Given the description of an element on the screen output the (x, y) to click on. 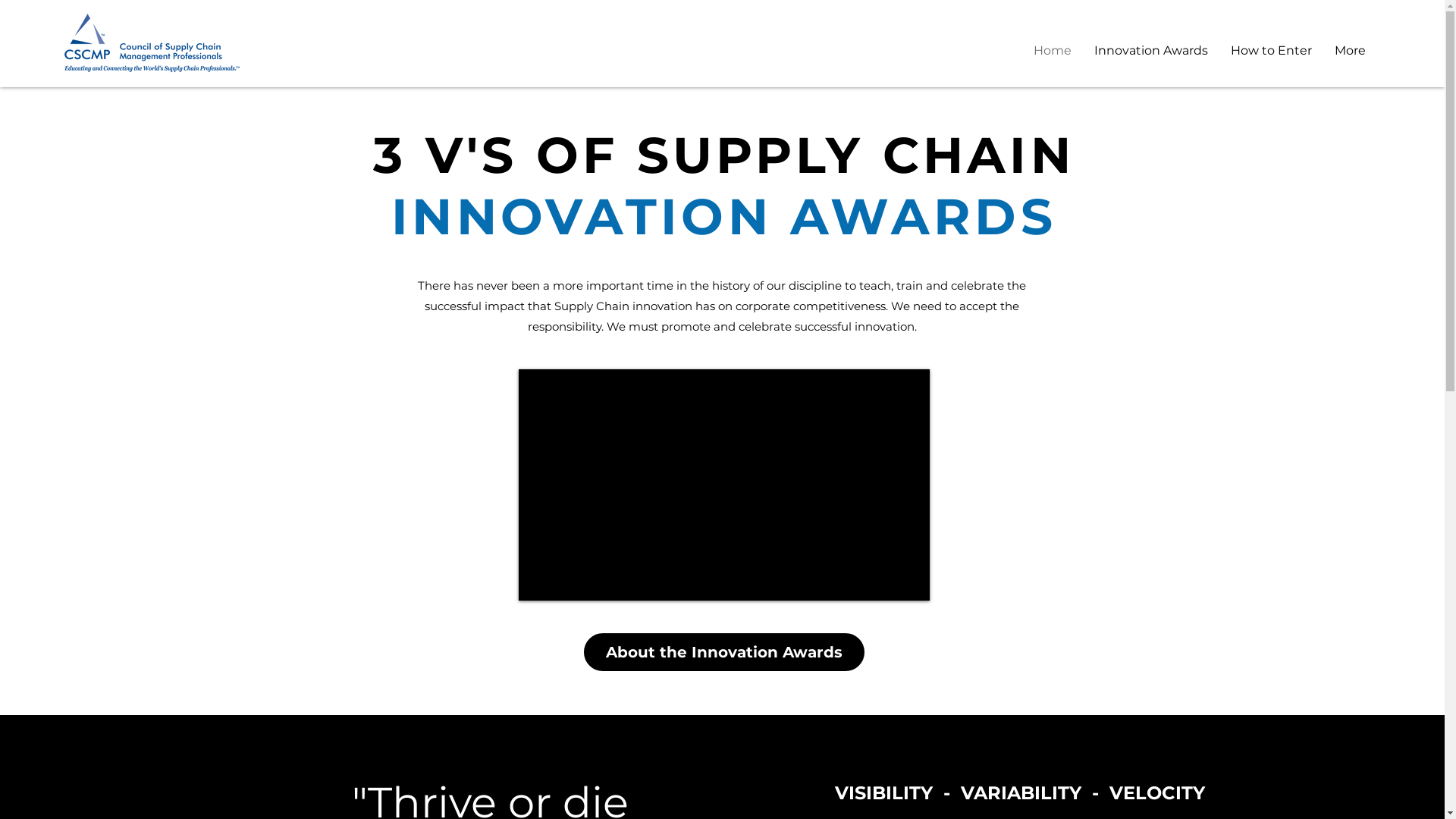
cscmp-logo-horiz-tag-cmyk.png Element type: hover (151, 42)
Home Element type: text (1052, 50)
Innovation Awards Element type: text (1150, 50)
How to Enter Element type: text (1271, 50)
About the Innovation Awards Element type: text (723, 652)
